Given the description of an element on the screen output the (x, y) to click on. 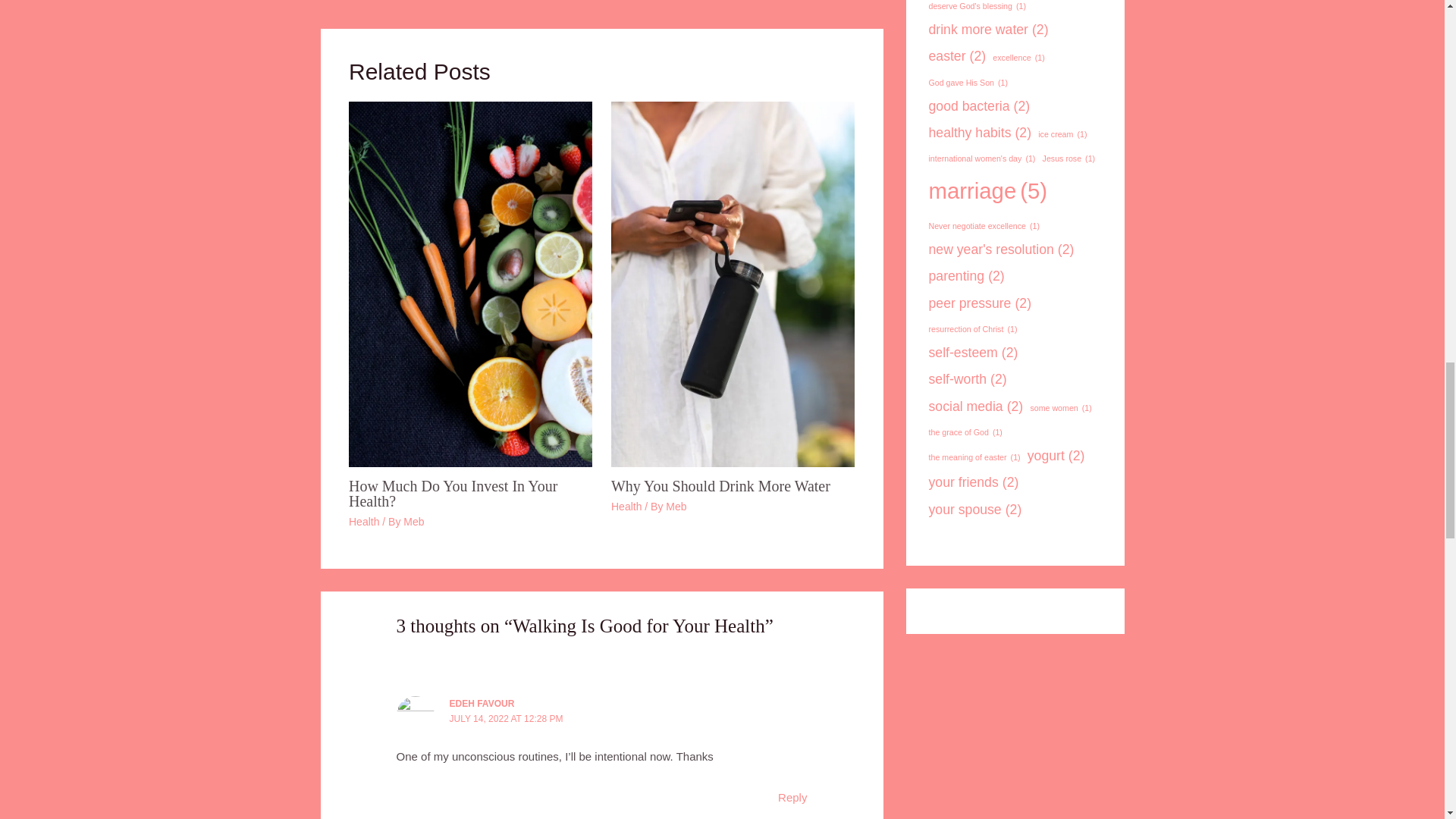
Health (363, 521)
Why You Should Drink More Water (720, 485)
Health (626, 506)
Keep Your Hands Clean (363, 2)
Meb (413, 521)
How Much Do You Invest In Your Health? (453, 493)
Meb (675, 506)
JULY 14, 2022 AT 12:28 PM (506, 718)
Reply (791, 797)
